Given the description of an element on the screen output the (x, y) to click on. 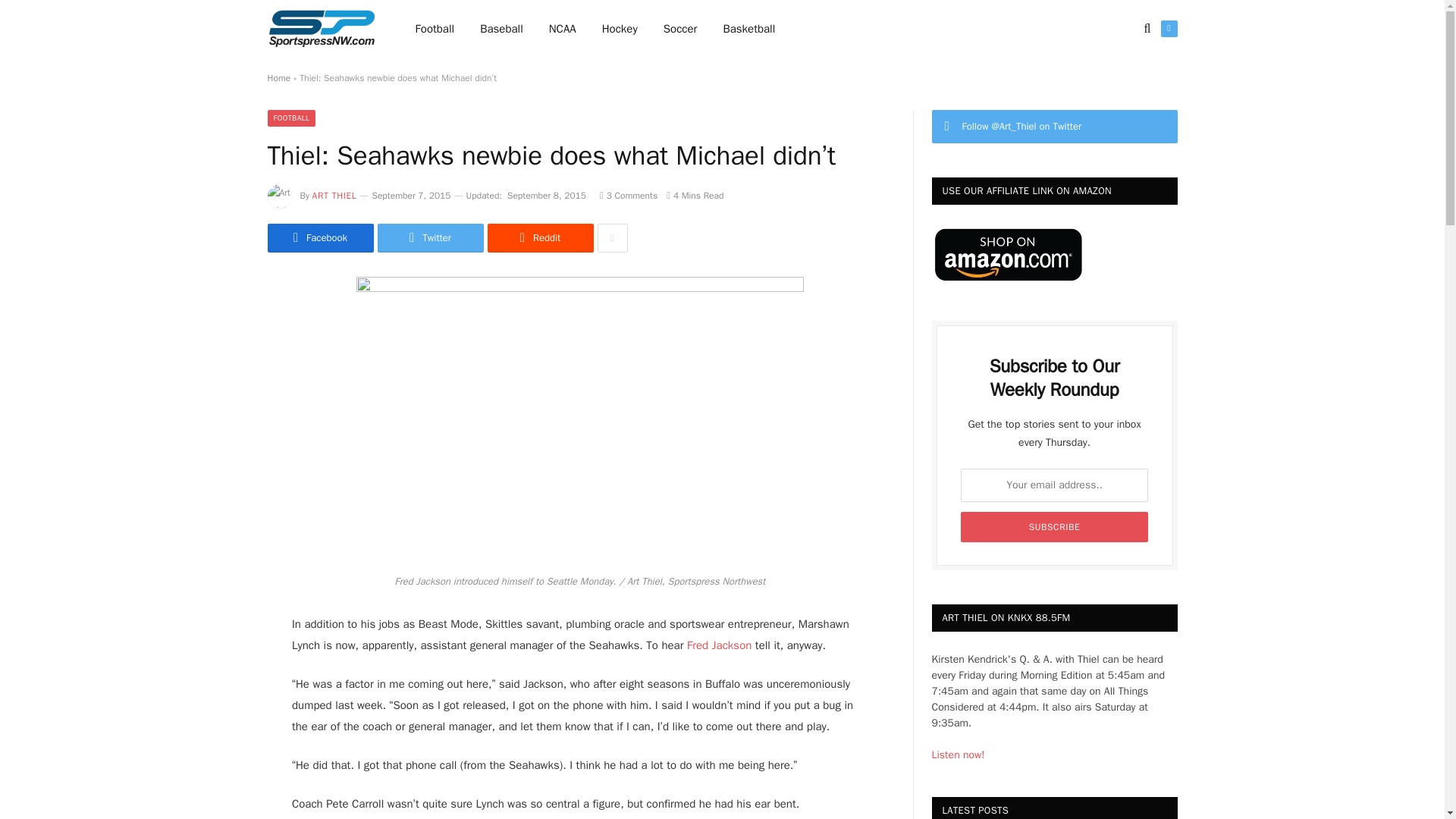
Show More Social Sharing (611, 237)
FOOTBALL (290, 117)
Facebook (319, 237)
Subscribe (1053, 526)
Share on Twitter (319, 237)
Posts by Art Thiel (334, 195)
Home (277, 78)
ART THIEL (334, 195)
Baseball (501, 28)
Fred Jackson (716, 644)
